Given the description of an element on the screen output the (x, y) to click on. 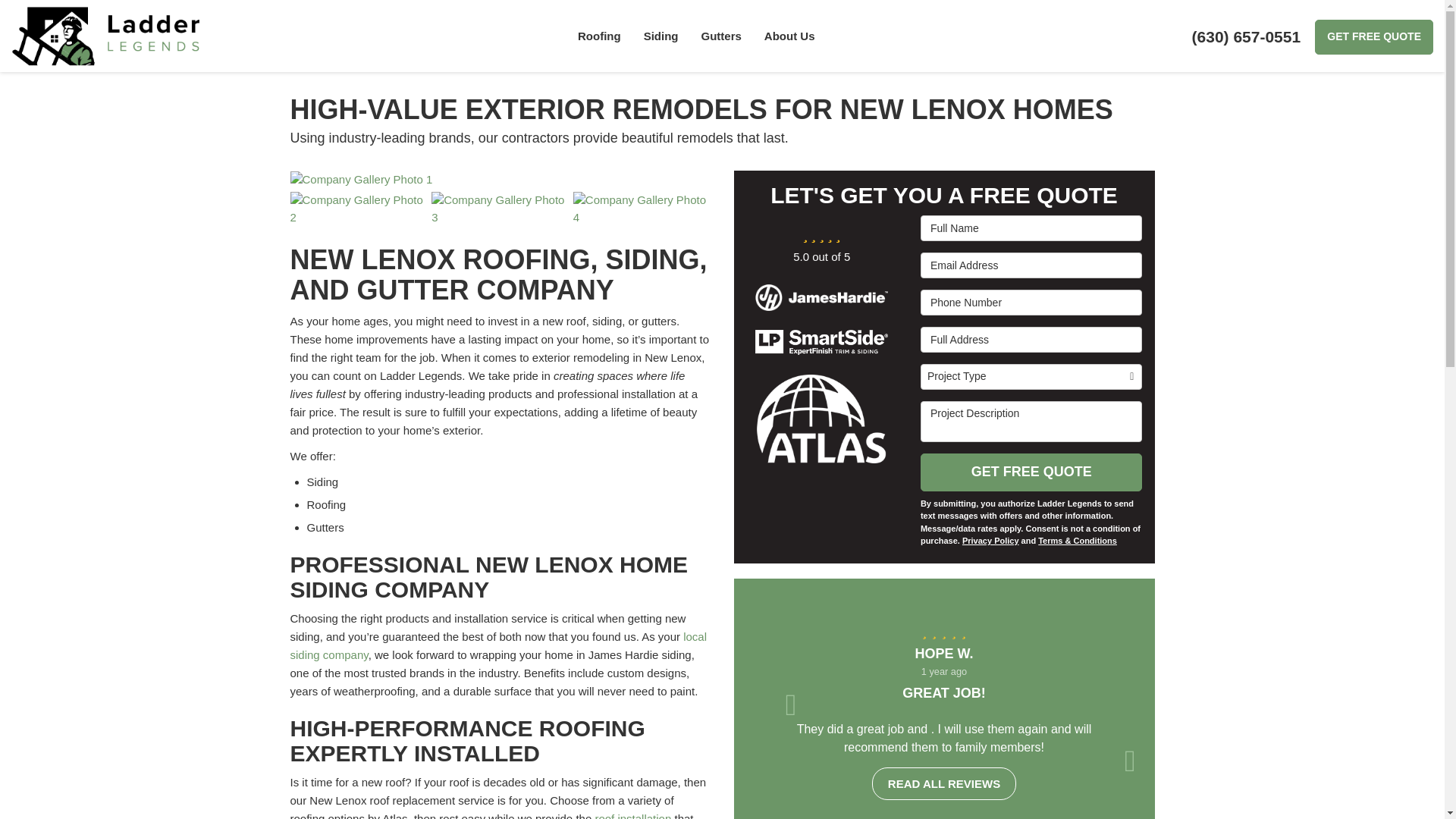
About Us (789, 36)
5 Stars (943, 629)
GET FREE QUOTE (1373, 36)
Roofing (598, 36)
GET FREE QUOTE (1373, 36)
